Given the description of an element on the screen output the (x, y) to click on. 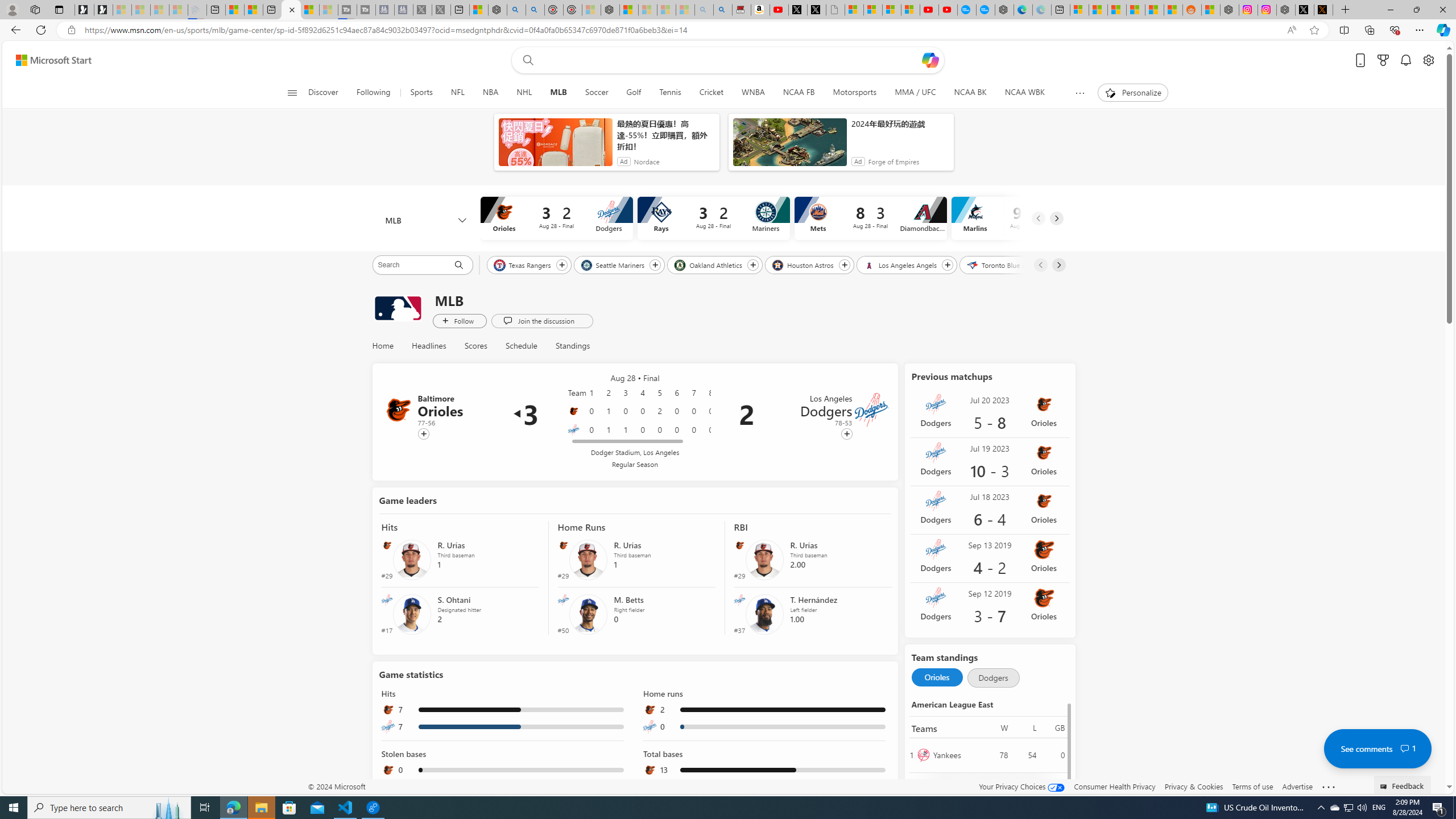
Advertise (1297, 786)
S. Ohtani (411, 613)
Show more topics (1079, 92)
Follow Seattle Mariners (655, 265)
Toronto Blue Jays (1000, 264)
Sports (421, 92)
Privacy & Cookies (1193, 785)
X (816, 9)
Terms of use (1252, 785)
Skip to content (49, 59)
Home (382, 345)
